Given the description of an element on the screen output the (x, y) to click on. 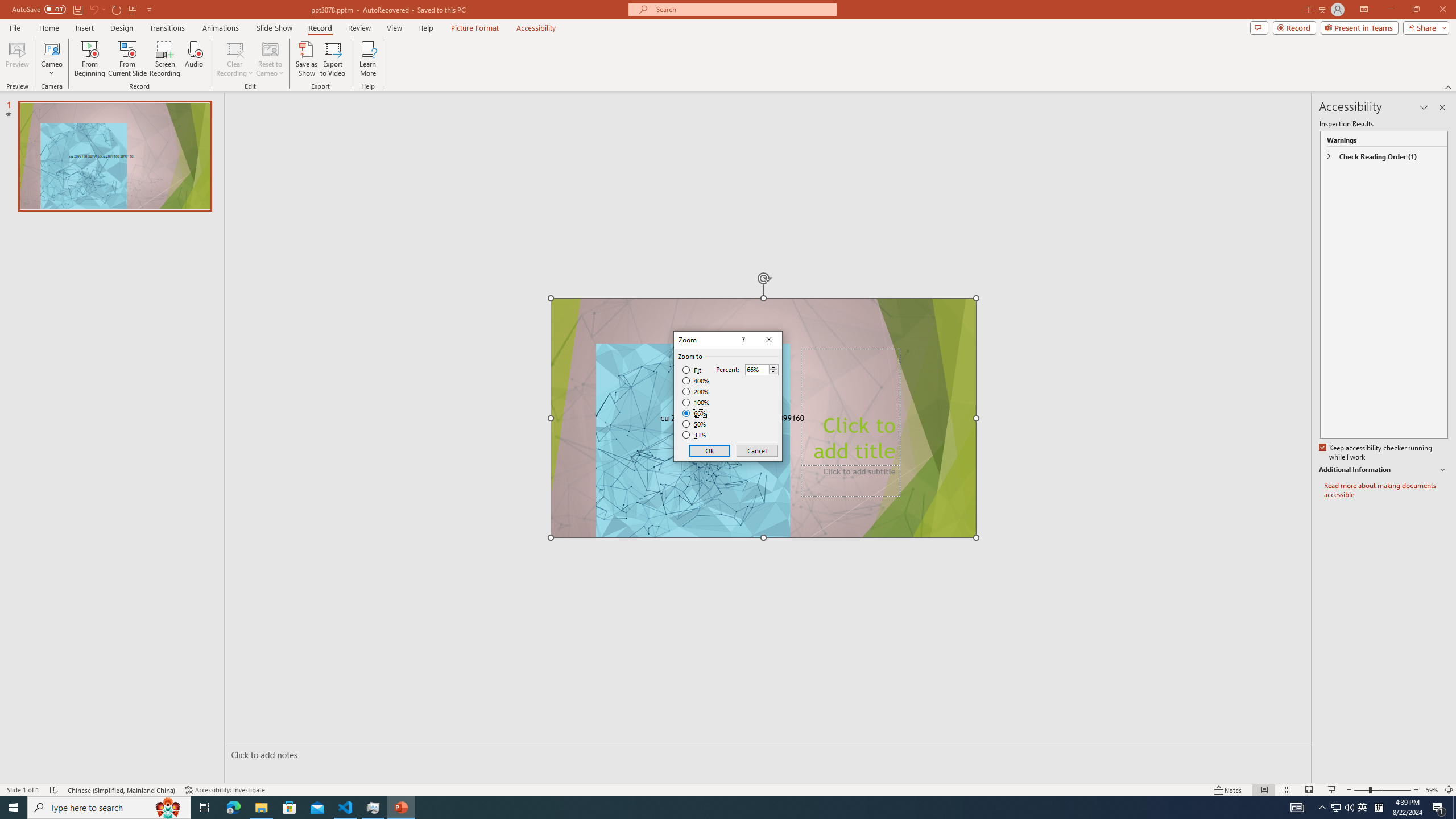
Type here to search (108, 807)
Learn More (368, 58)
AutomationID: 4105 (1297, 807)
Read more about making documents accessible (1385, 489)
Additional Information (1383, 469)
